Given the description of an element on the screen output the (x, y) to click on. 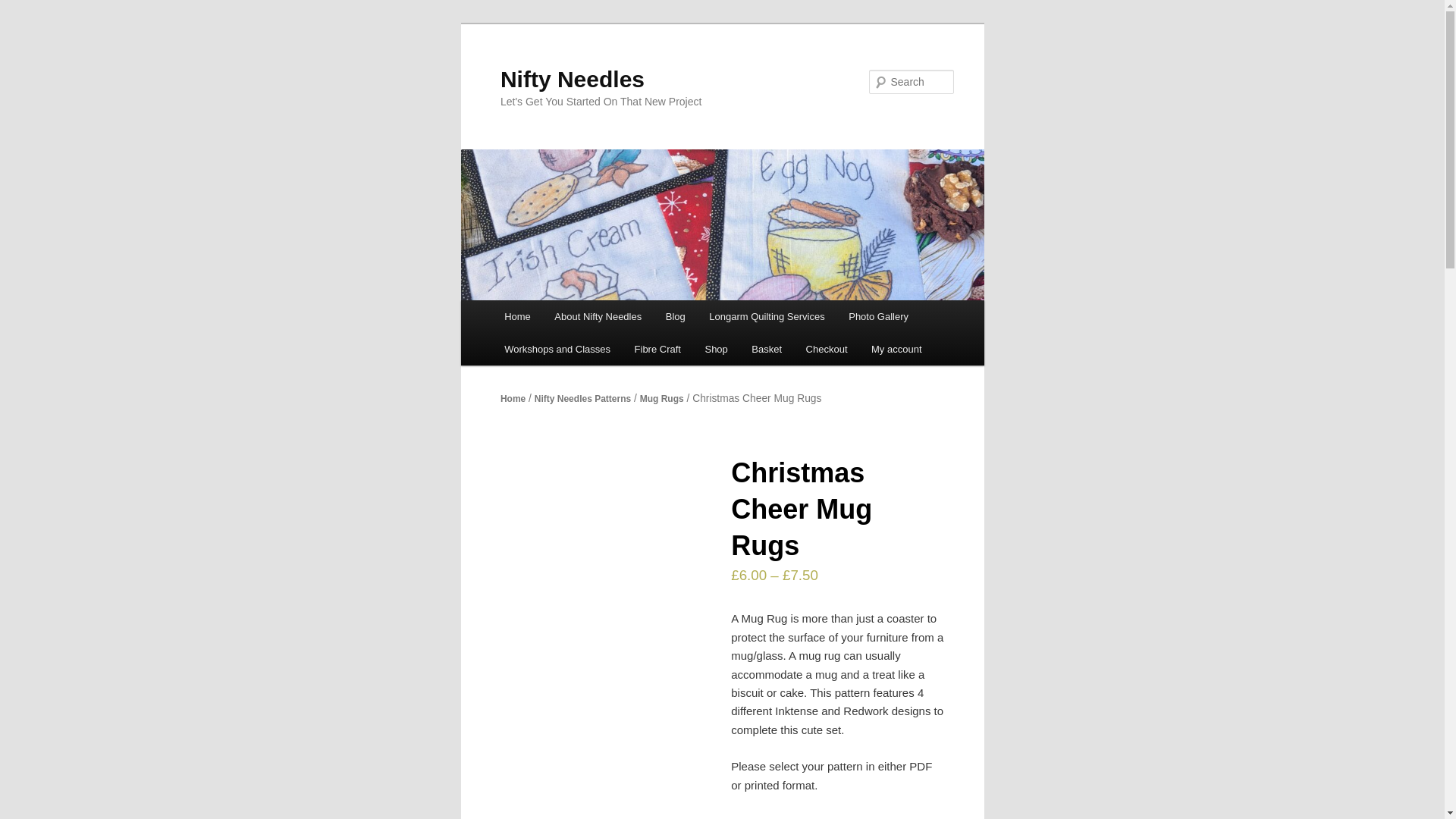
Shop (716, 348)
Nifty Needles (572, 78)
Blog (675, 316)
Home (512, 398)
Home (516, 316)
Fibre Craft (658, 348)
My account (896, 348)
Nifty Needles Patterns (582, 398)
Checkout (826, 348)
